Given the description of an element on the screen output the (x, y) to click on. 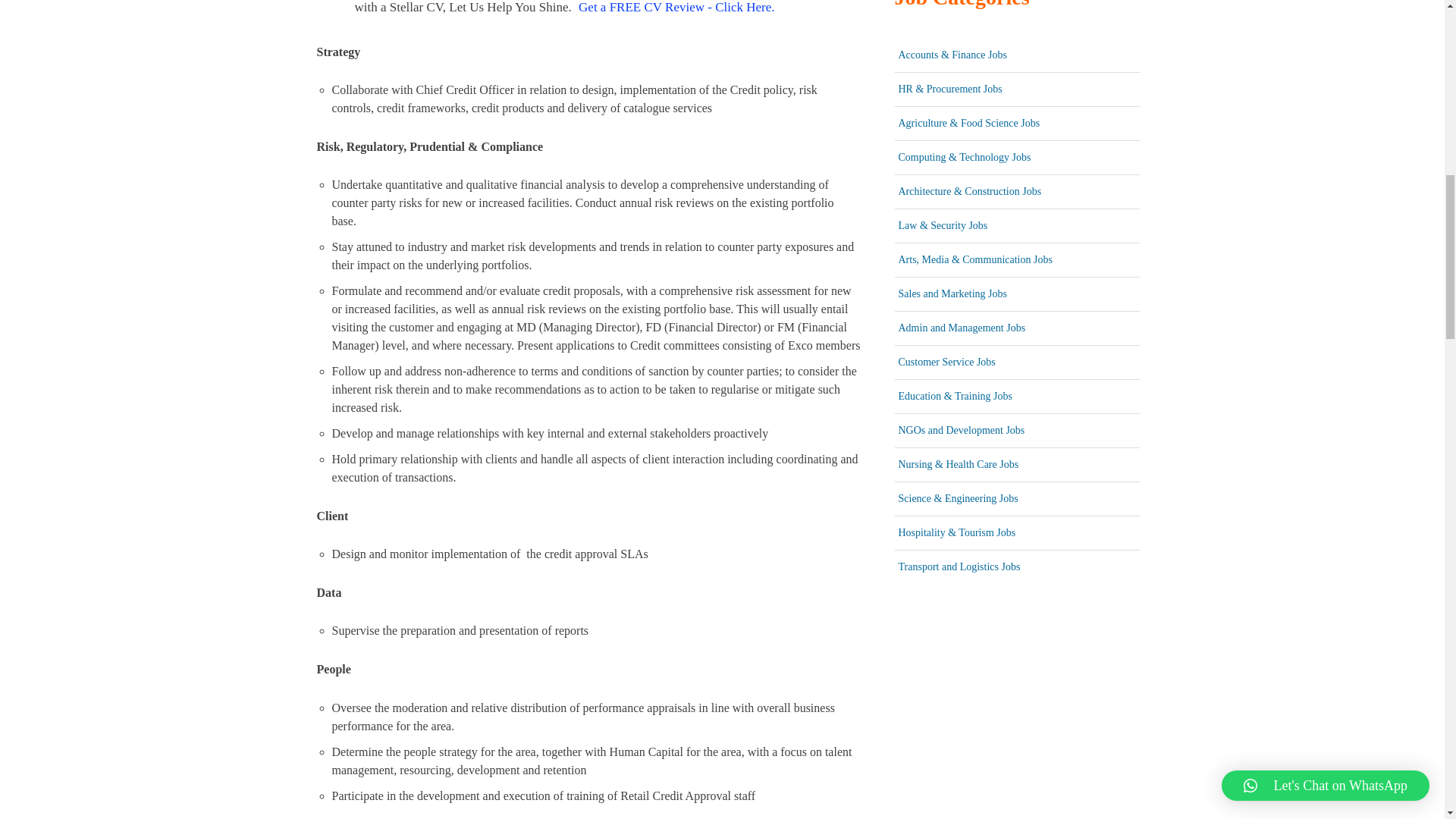
Get a FREE CV Review - Click Here. (676, 9)
